Given the description of an element on the screen output the (x, y) to click on. 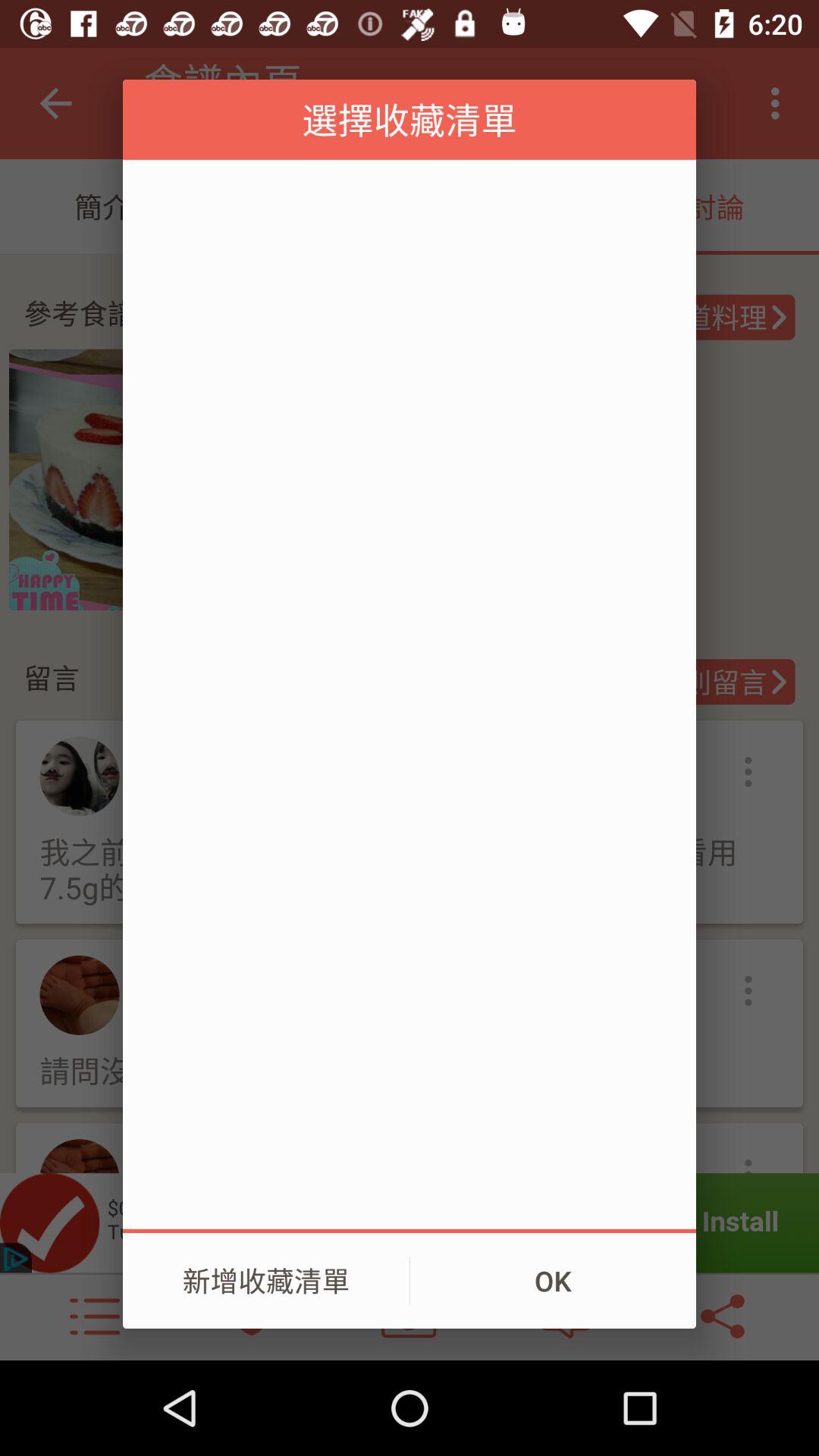
turn on item at the center (409, 694)
